Given the description of an element on the screen output the (x, y) to click on. 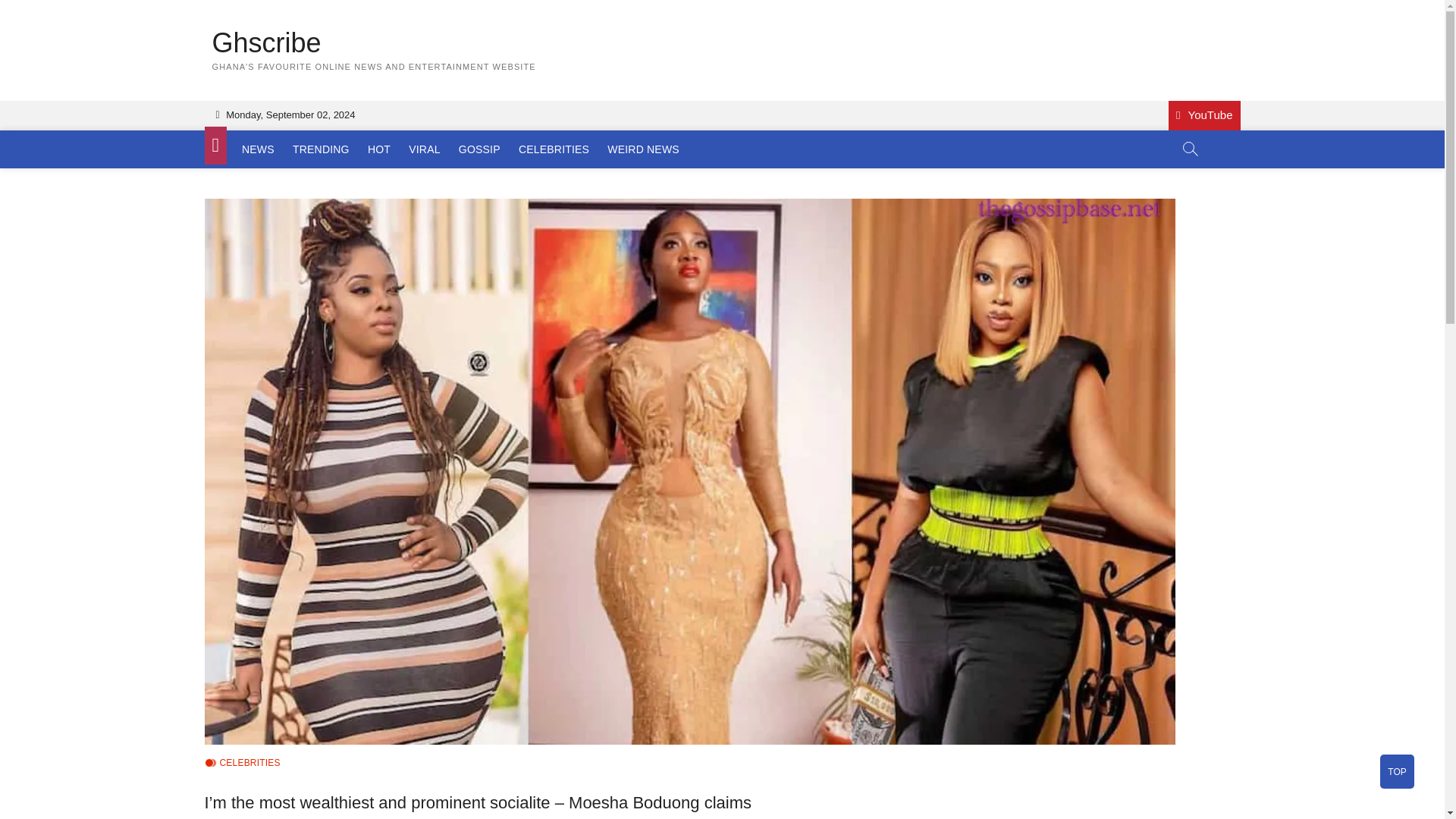
WEIRD NEWS (643, 149)
Ghscribe (373, 42)
VIRAL (423, 149)
Ghscribe (373, 42)
TRENDING (320, 149)
CELEBRITIES (553, 149)
GOSSIP (479, 149)
NEWS (258, 149)
YouTube (1204, 115)
TOP (1396, 771)
